Given the description of an element on the screen output the (x, y) to click on. 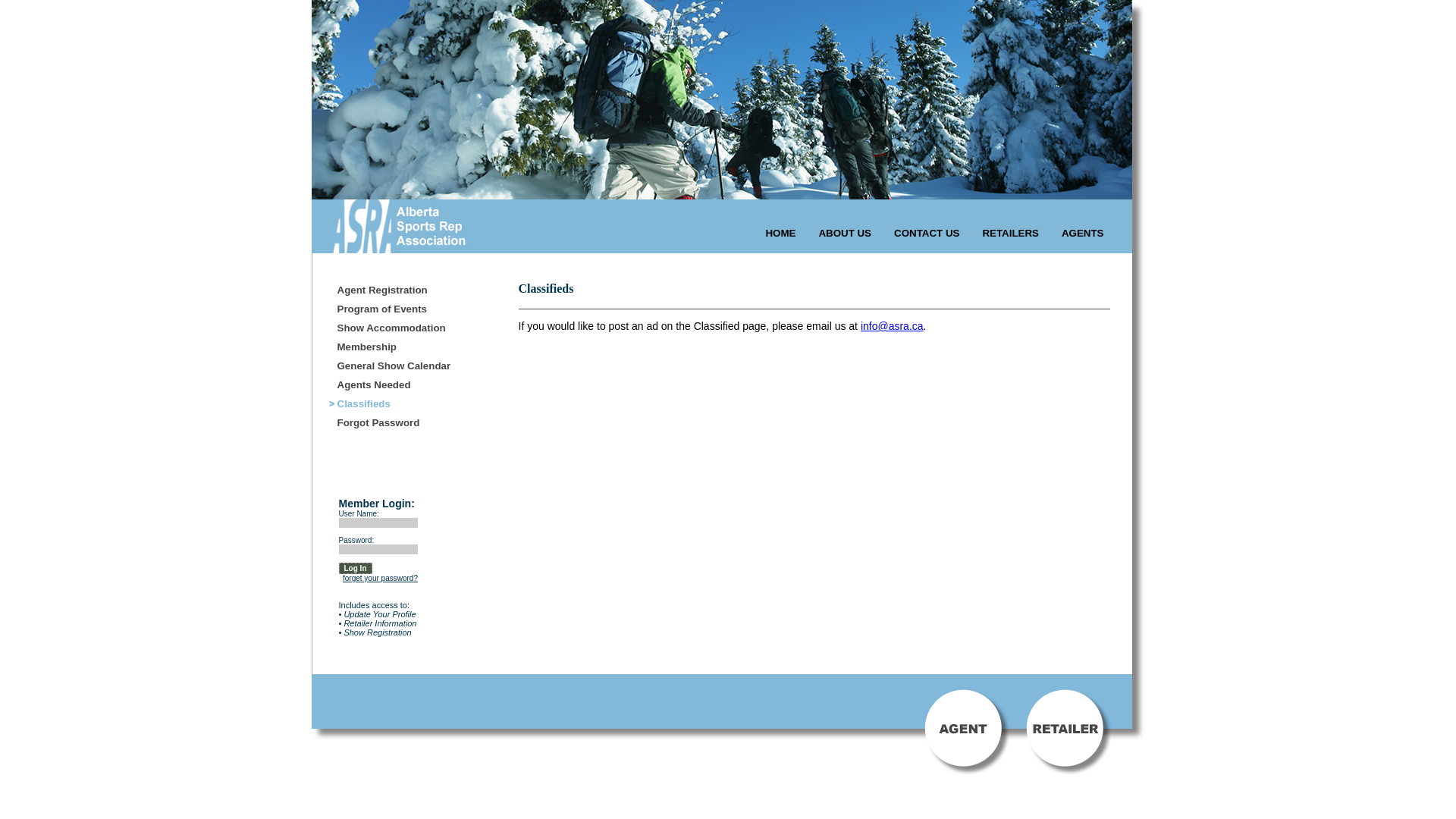
CONTACT US Element type: text (926, 232)
Program of Events Element type: text (388, 309)
info@asra.ca Element type: text (891, 326)
ABOUT US Element type: text (844, 232)
Agent Registration Element type: text (388, 290)
Membership Element type: text (388, 347)
General Show Calendar Element type: text (388, 366)
Log In Element type: text (354, 568)
RETAILERS Element type: text (1010, 232)
HOME Element type: text (780, 232)
Classifieds Element type: text (388, 404)
AGENTS Element type: text (1082, 232)
Forgot Password Element type: text (388, 423)
Agents Needed Element type: text (388, 385)
forget your password? Element type: text (379, 578)
Show Accommodation Element type: text (388, 328)
